Given the description of an element on the screen output the (x, y) to click on. 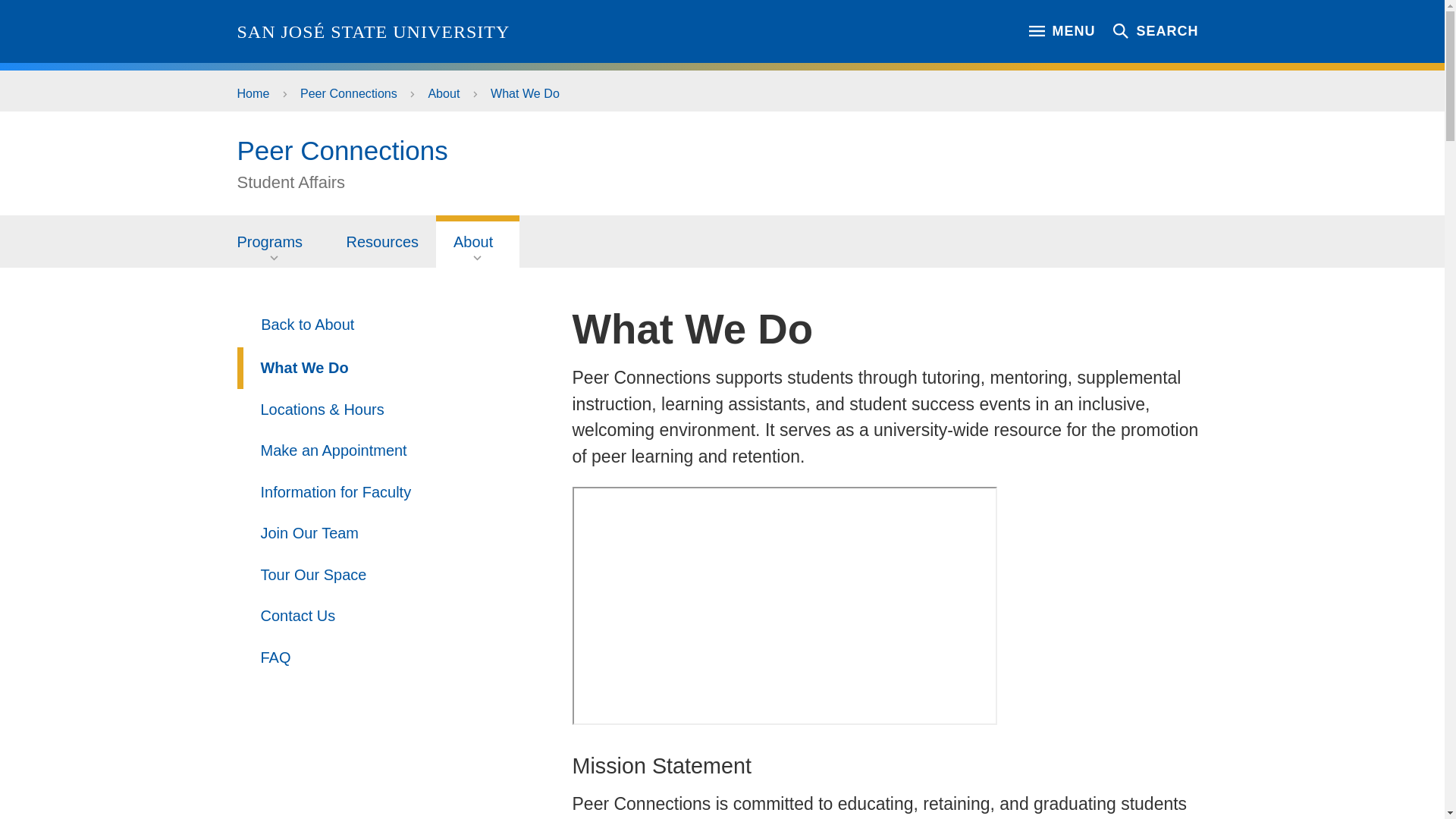
MENU (1061, 30)
